Given the description of an element on the screen output the (x, y) to click on. 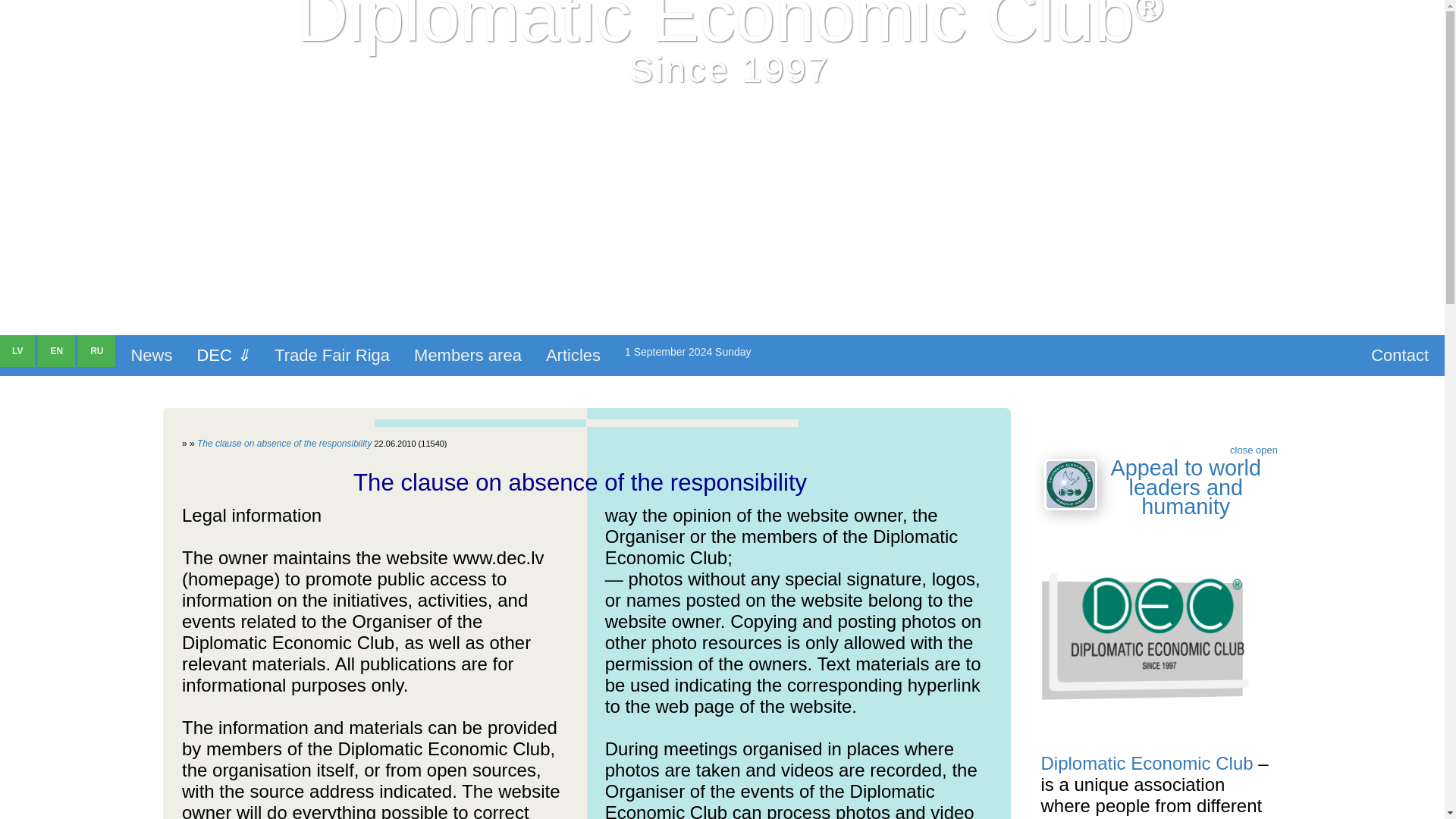
open (1266, 449)
The clause on absence of the responsibility (283, 443)
Appeal to world leaders and humanity (1184, 487)
Trade Fair Riga (331, 354)
1 September 2024 Sunday (687, 351)
News (150, 354)
RU (96, 350)
LV (17, 350)
Diplomatic Economic Club (1146, 762)
close (1241, 449)
